Given the description of an element on the screen output the (x, y) to click on. 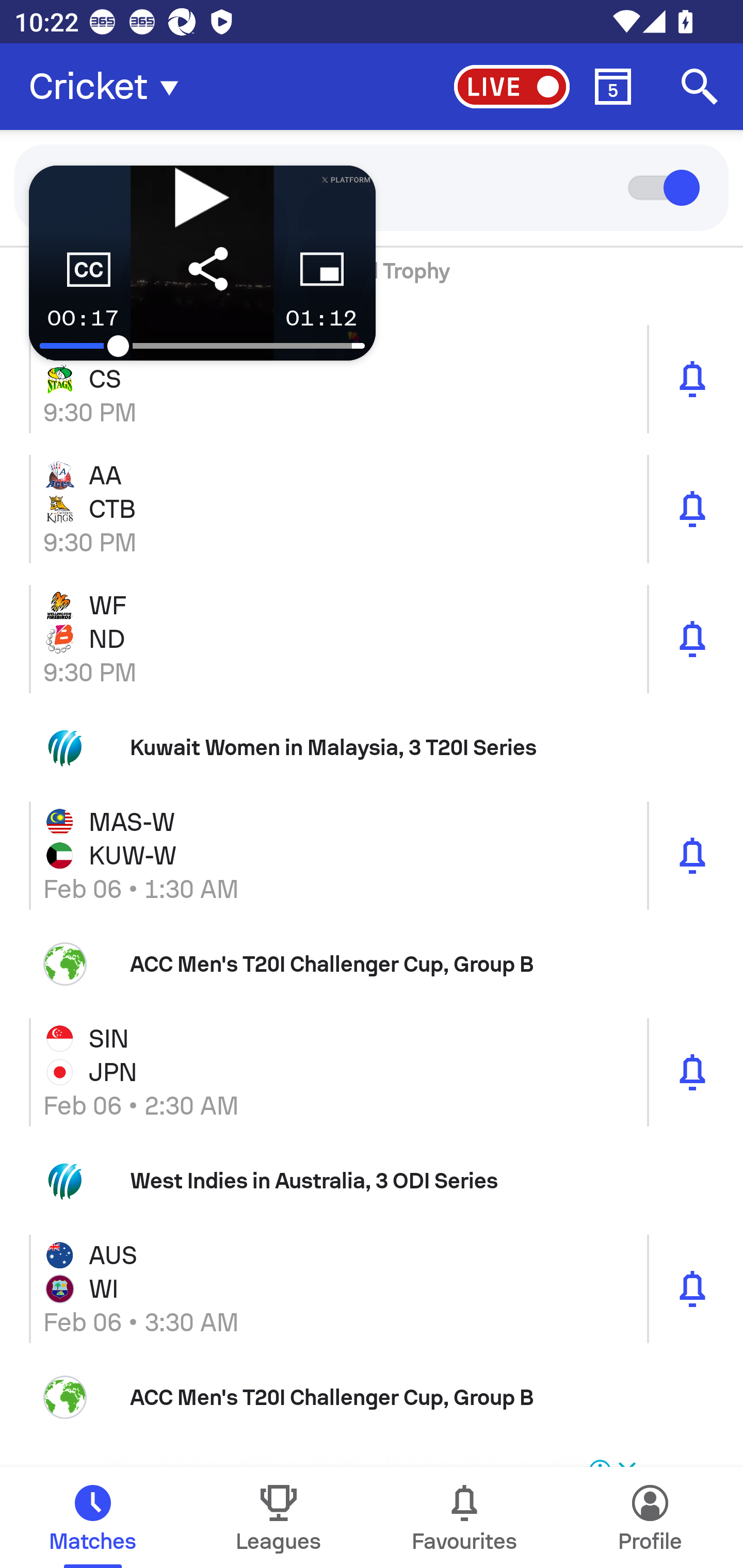
Cricket (109, 86)
Calendar (612, 86)
Search (699, 86)
AA CTB 9:30 PM (371, 508)
WF ND 9:30 PM (371, 638)
Kuwait Women in Malaysia, 3 T20I Series (371, 747)
MAS-W KUW-W Feb 06 • 1:30 AM (371, 855)
ACC Men's T20I Challenger Cup, Group B (371, 963)
SIN JPN Feb 06 • 2:30 AM (371, 1071)
West Indies in Australia, 3 ODI Series (371, 1180)
AUS WI Feb 06 • 3:30 AM (371, 1288)
ACC Men's T20I Challenger Cup, Group B (371, 1396)
Leagues (278, 1517)
Favourites (464, 1517)
Profile (650, 1517)
